Given the description of an element on the screen output the (x, y) to click on. 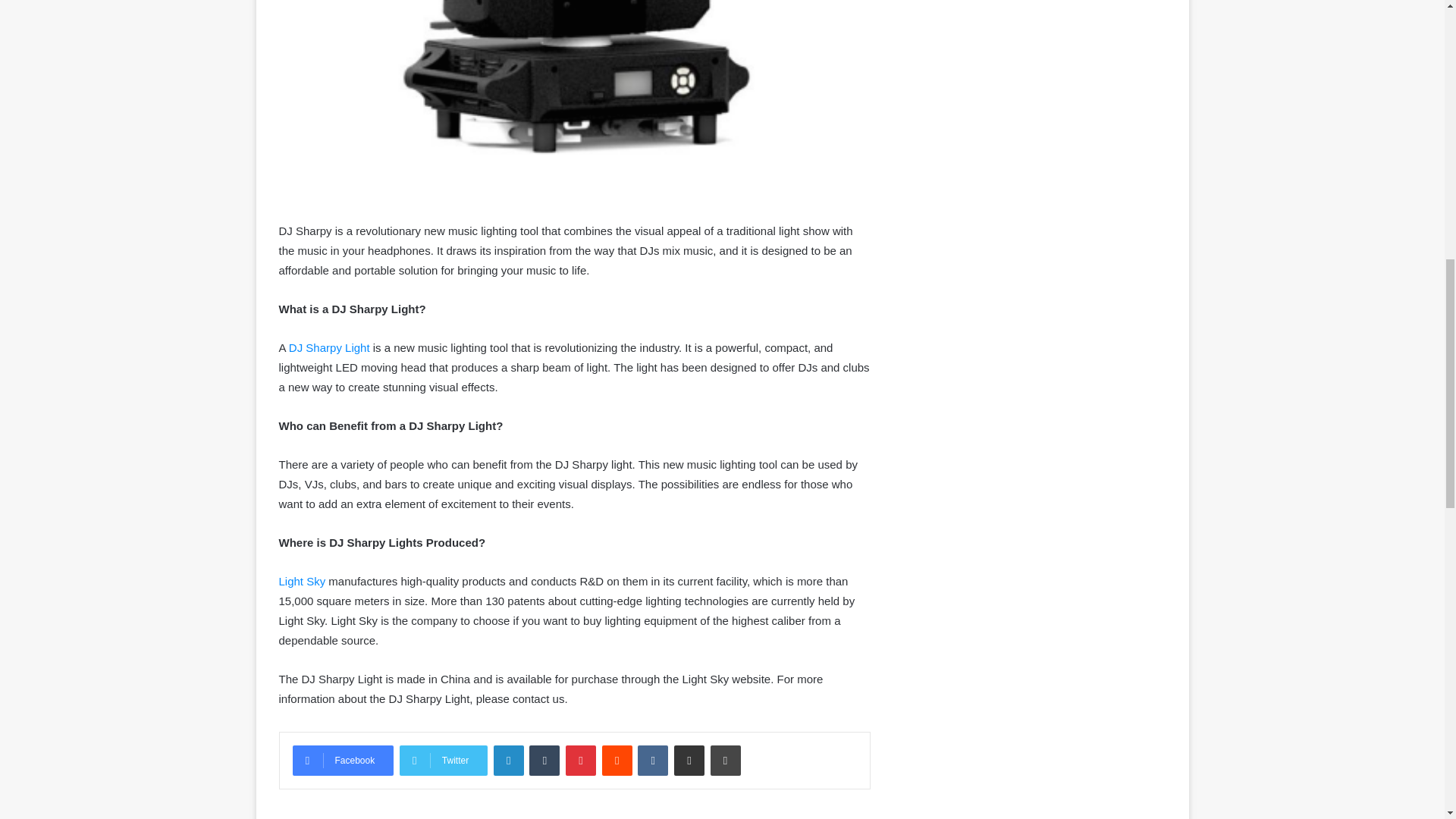
VKontakte (652, 760)
Share via Email (689, 760)
Facebook (343, 760)
Print (725, 760)
LinkedIn (508, 760)
Print (725, 760)
Tumblr (544, 760)
Pinterest (580, 760)
Reddit (616, 760)
Tumblr (544, 760)
Twitter (442, 760)
DJ Sharpy Light (328, 347)
Twitter (442, 760)
Reddit (616, 760)
LinkedIn (508, 760)
